Given the description of an element on the screen output the (x, y) to click on. 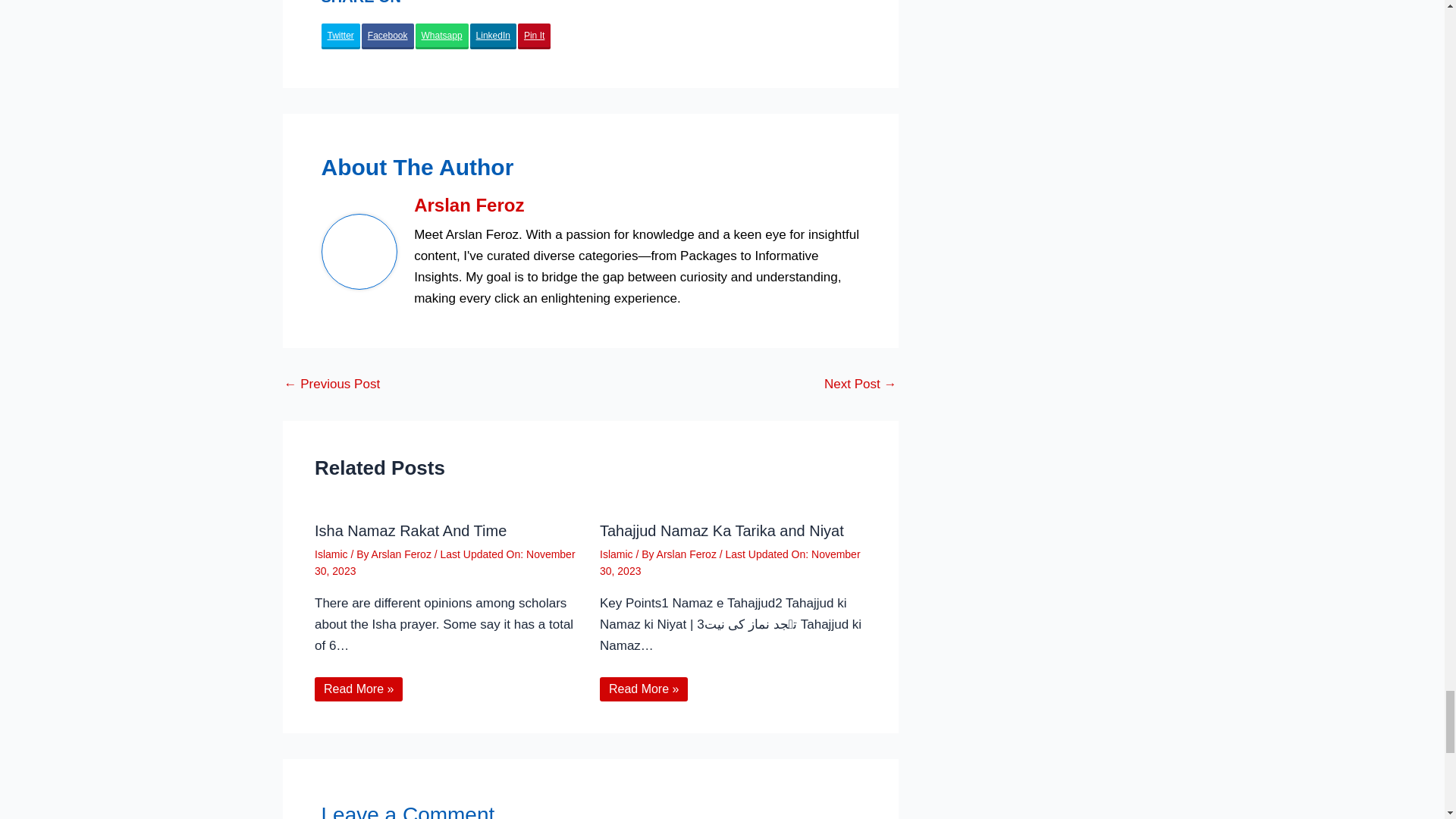
View all posts by Arslan Feroz (402, 553)
View all posts by Arslan Feroz (687, 553)
